Given the description of an element on the screen output the (x, y) to click on. 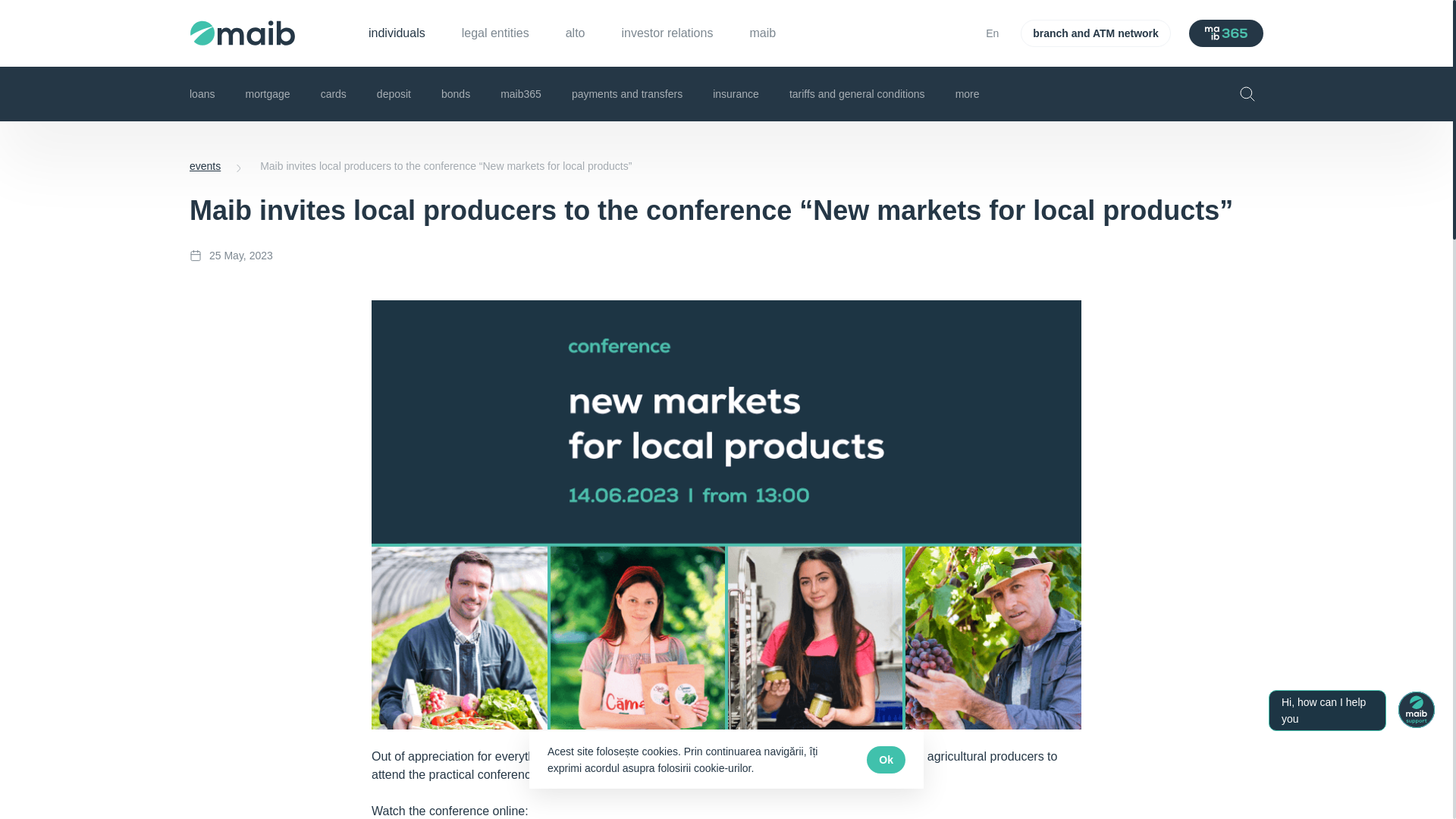
En (994, 33)
investor relations (667, 33)
individuals (396, 33)
legal entities (495, 33)
alto (575, 33)
maib (762, 33)
branch and ATM network (1095, 32)
